Given the description of an element on the screen output the (x, y) to click on. 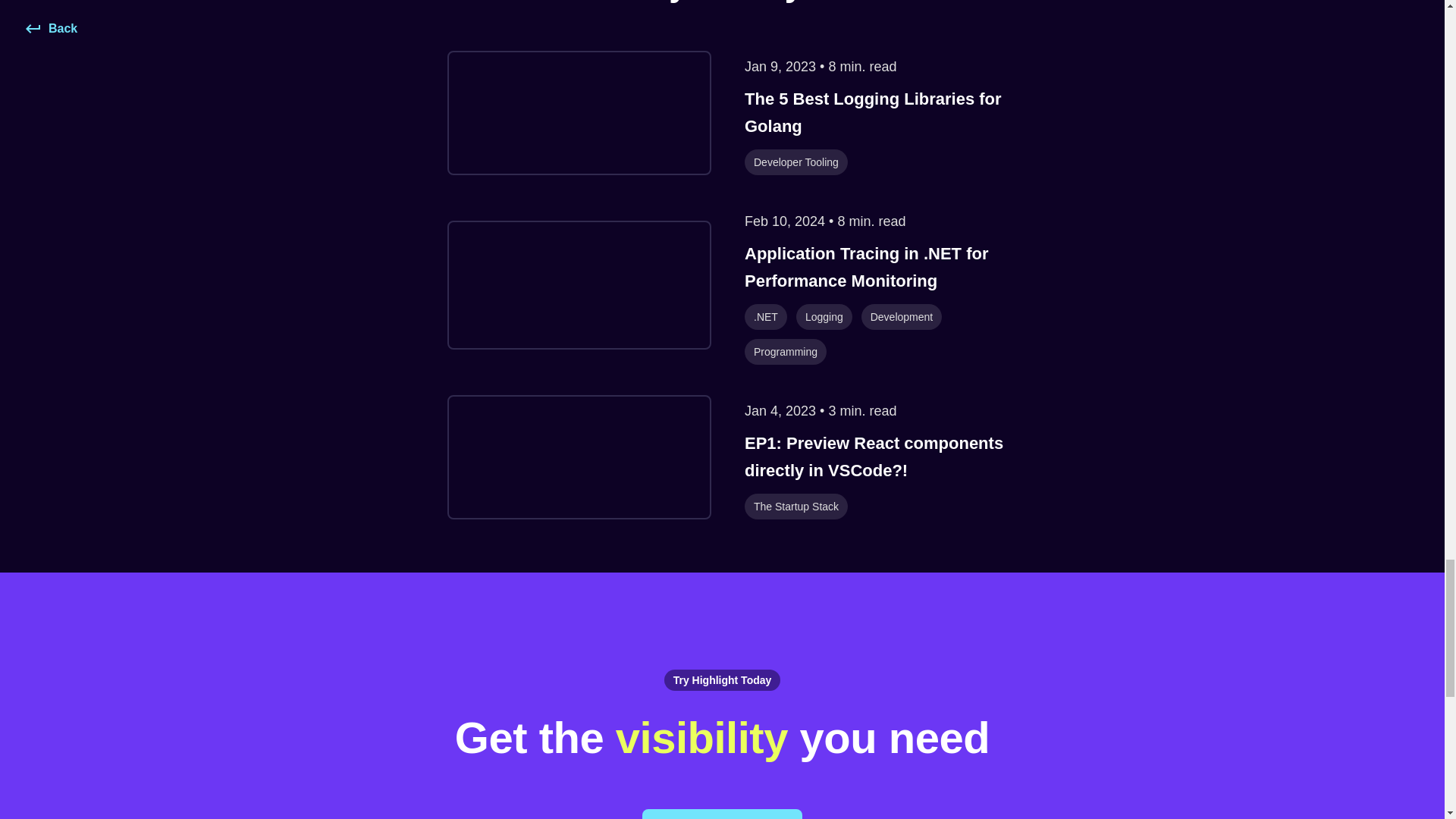
Logging (823, 316)
.NET (765, 316)
Programming (785, 350)
Get started for free (722, 813)
The Startup Stack (795, 505)
Development (901, 316)
Developer Tooling (795, 161)
